Given the description of an element on the screen output the (x, y) to click on. 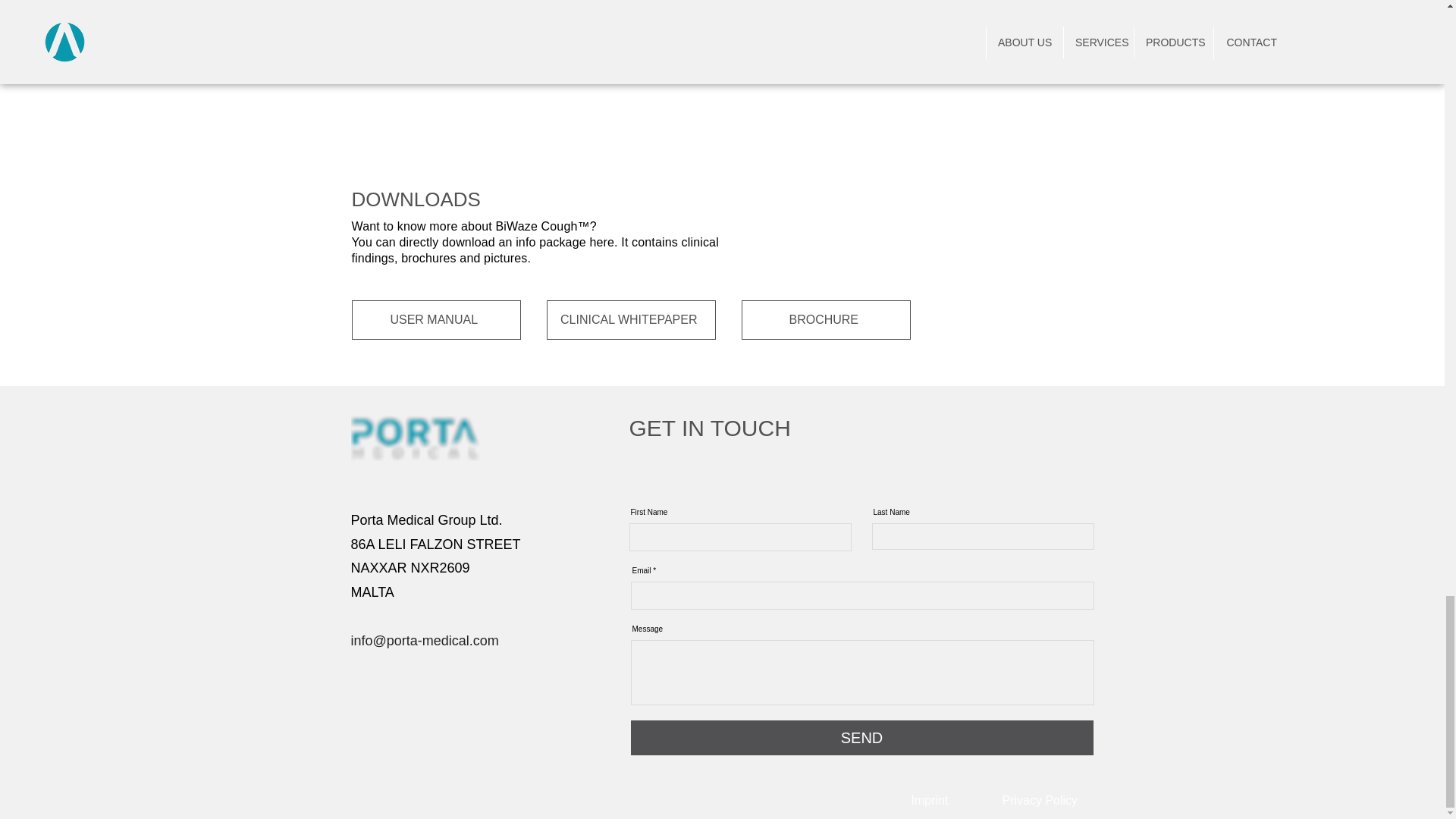
Imprint (930, 799)
SEND (861, 737)
USER MANUAL (436, 319)
CLINICAL WHITEPAPER (630, 319)
Privacy Policy (1040, 799)
BROCHURE (826, 319)
